Given the description of an element on the screen output the (x, y) to click on. 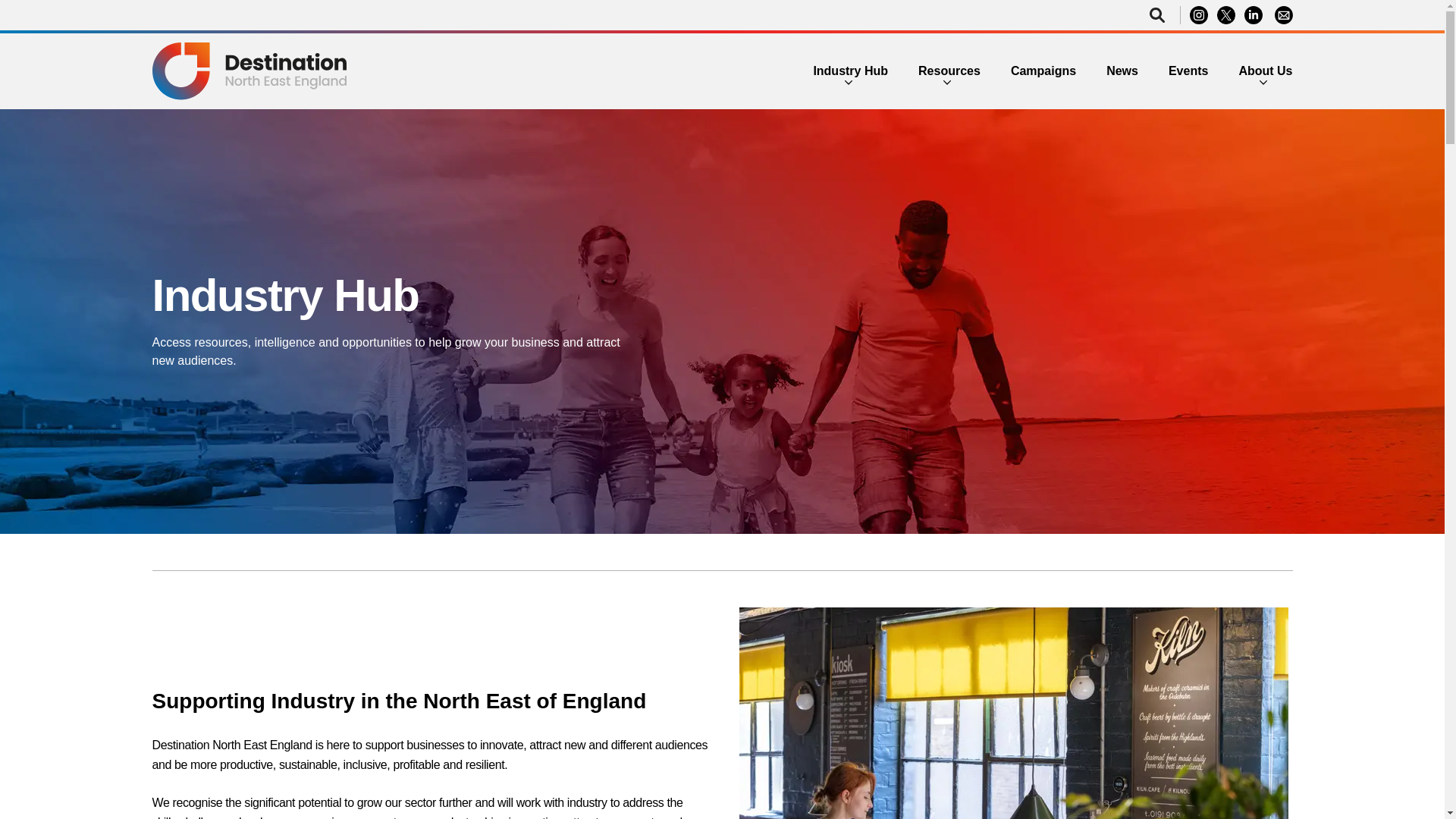
Events (1188, 71)
Resources (948, 71)
Campaigns (1042, 71)
Industry Hub (850, 71)
About Us (1265, 71)
